Given the description of an element on the screen output the (x, y) to click on. 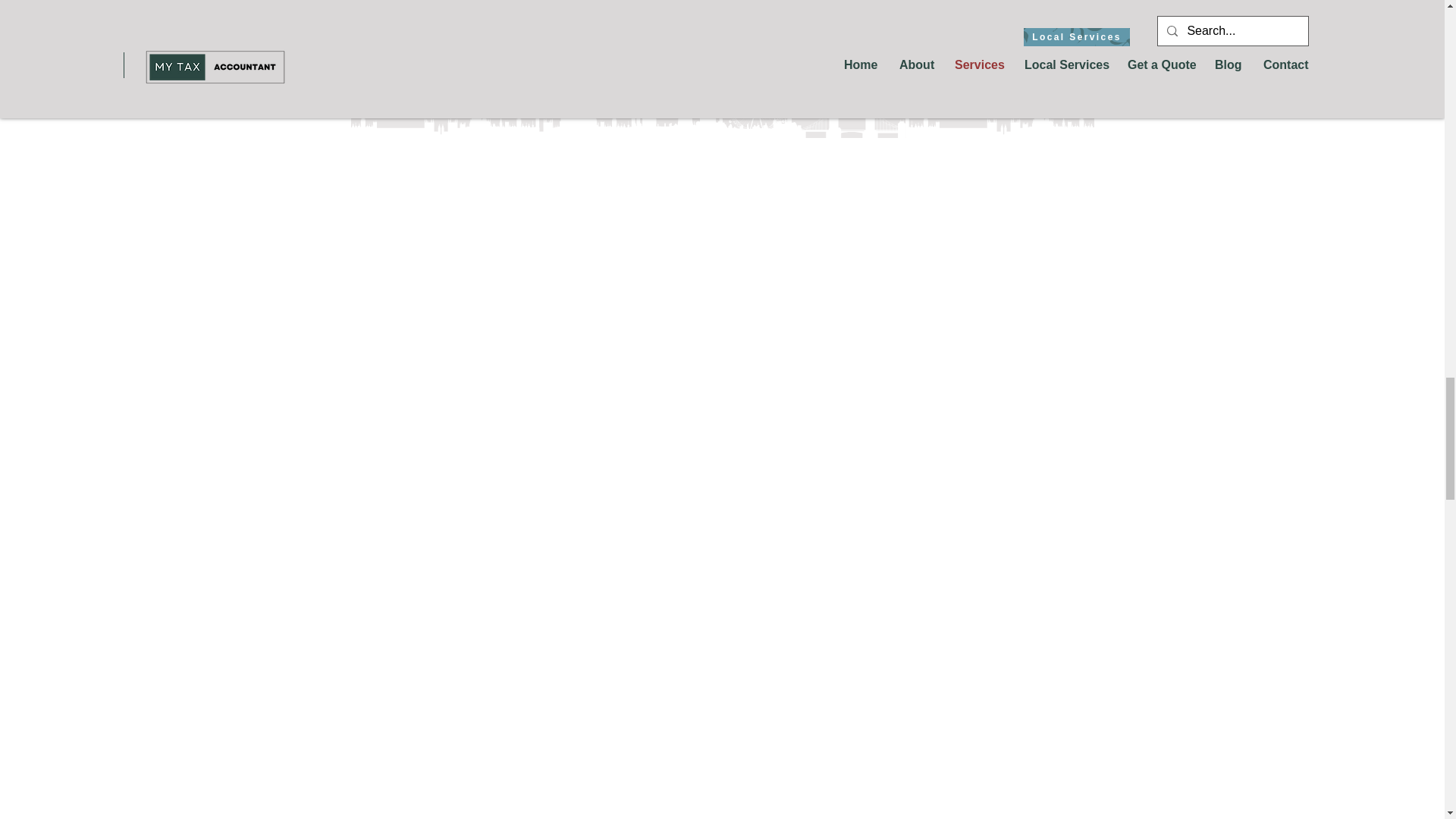
GET A QUOTE (721, 7)
